Given the description of an element on the screen output the (x, y) to click on. 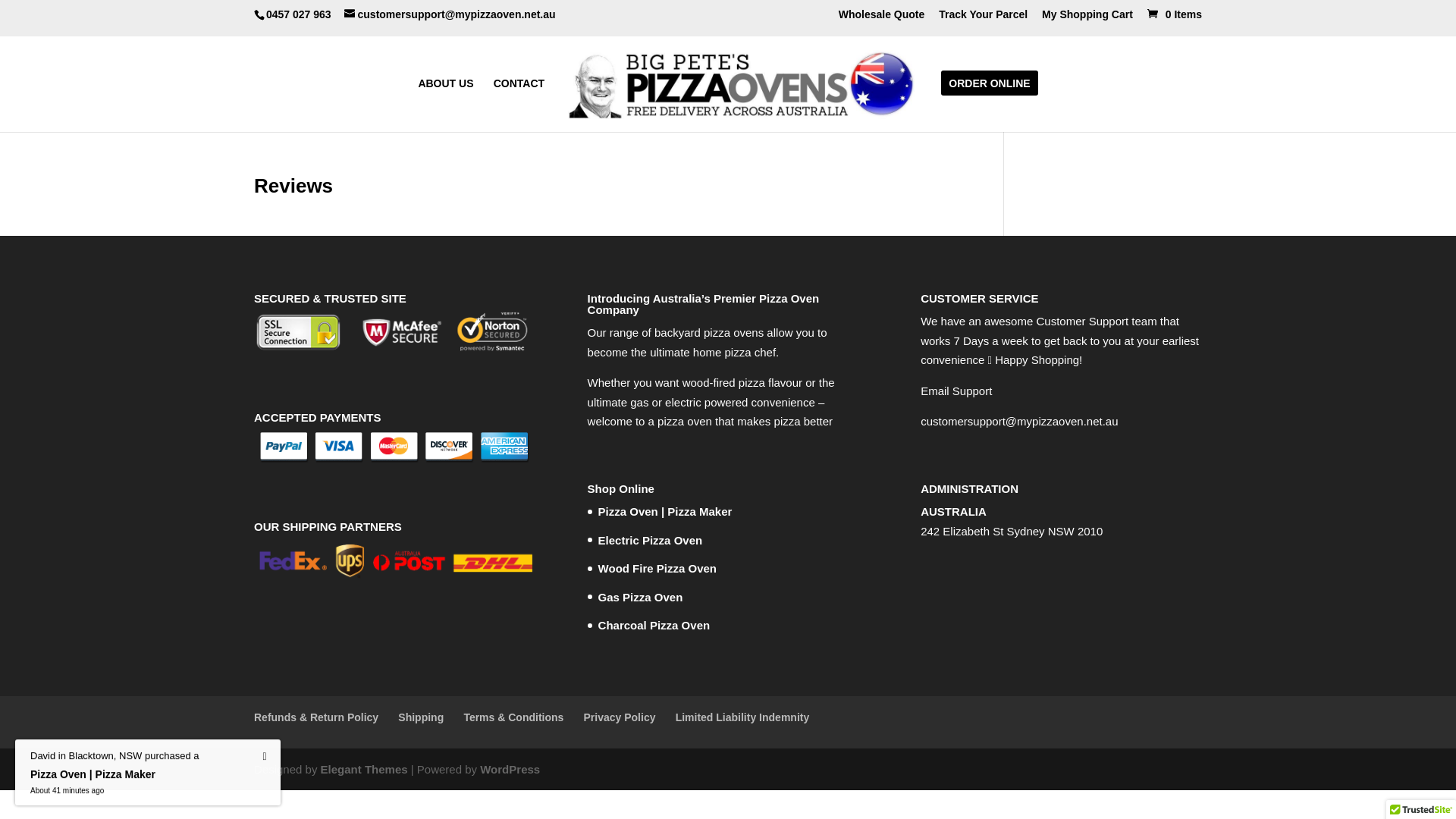
CONTACT Element type: text (518, 100)
Wholesale Quote Element type: text (881, 18)
ABOUT US Element type: text (445, 100)
Track Your Parcel Element type: text (982, 18)
OUR SHIPPING PARTNERS Element type: hover (394, 560)
Privacy Policy Element type: text (619, 717)
Refunds & Return Policy Element type: text (316, 717)
ORDER ONLINE Element type: text (988, 100)
customersupport@mypizzaoven.net.au Element type: text (449, 13)
Charcoal Pizza Oven Element type: text (654, 624)
Shipping Element type: text (420, 717)
Gas Pizza Oven Element type: text (640, 596)
0 Items Element type: text (1172, 13)
Terms & Conditions Element type: text (513, 717)
Pizza Oven | Pizza Maker Element type: text (665, 511)
My Shopping Cart Element type: text (1086, 18)
Elegant Themes Element type: text (363, 768)
Limited Liability Indemnity Element type: text (742, 717)
AUSTRALIA Element type: text (953, 511)
WordPress Element type: text (509, 768)
Pizza Oven | Pizza Maker Element type: text (114, 783)
Electric Pizza Oven Element type: text (650, 539)
Wood Fire Pizza Oven Element type: text (657, 567)
